Given the description of an element on the screen output the (x, y) to click on. 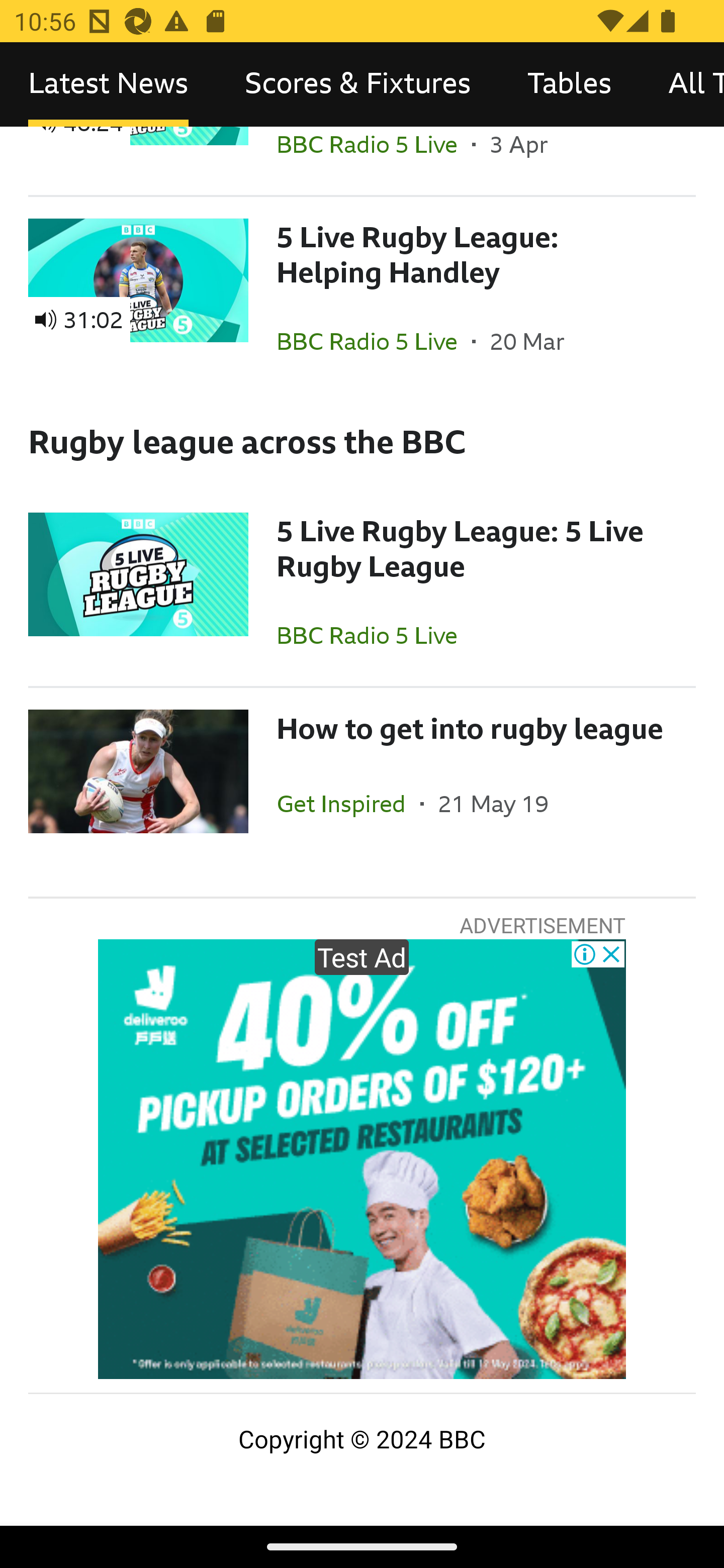
Latest News, selected Latest News (108, 84)
Scores & Fixtures (357, 84)
Tables (569, 84)
Get Inspired In the section Get Inspired (348, 803)
